Given the description of an element on the screen output the (x, y) to click on. 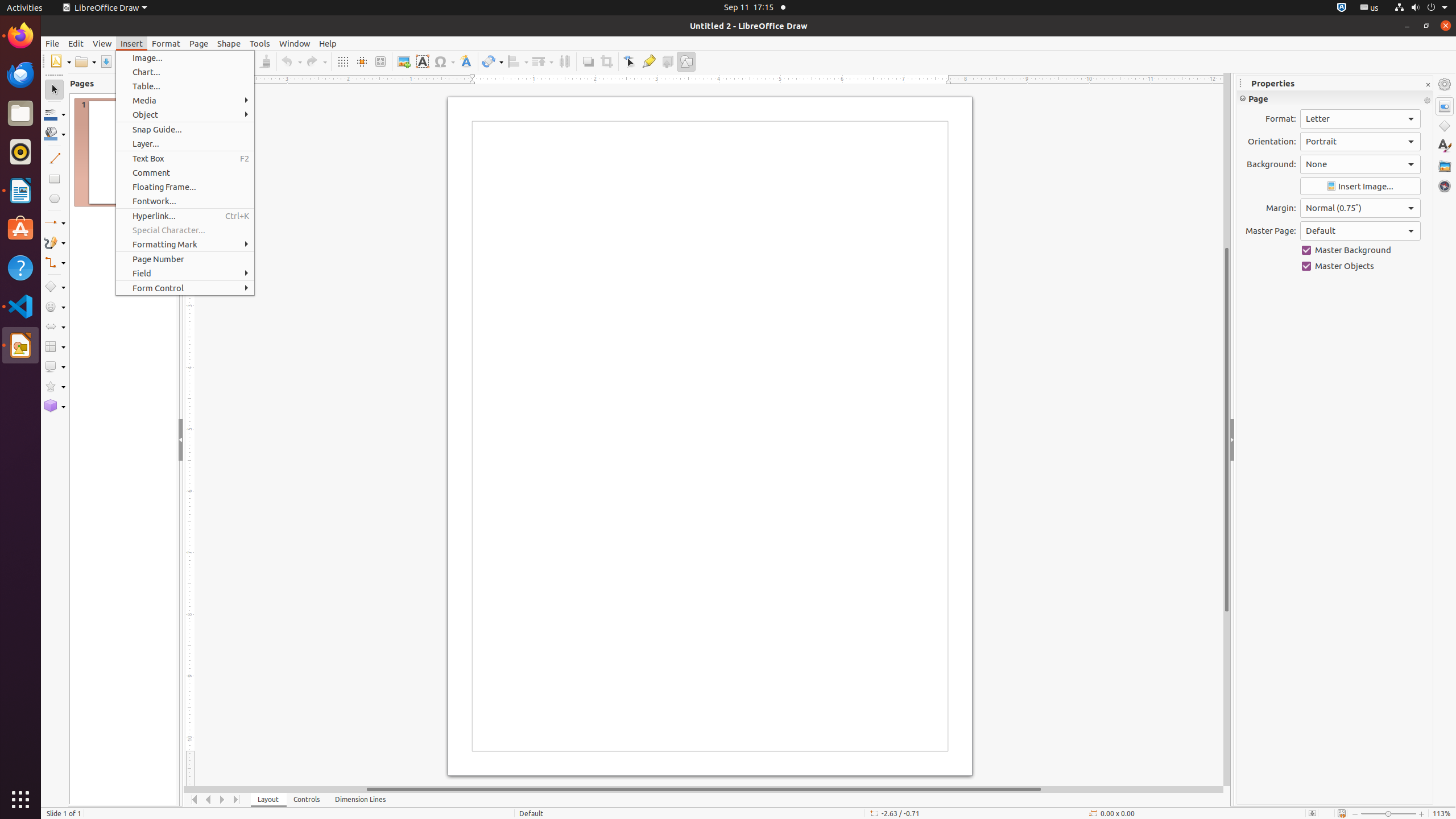
Lines and Arrows Element type: push-button (54, 222)
Clone Element type: push-button (264, 61)
Basic Shapes Element type: push-button (54, 286)
LibreOffice Writer Element type: push-button (20, 190)
Help Element type: menu (327, 43)
